Given the description of an element on the screen output the (x, y) to click on. 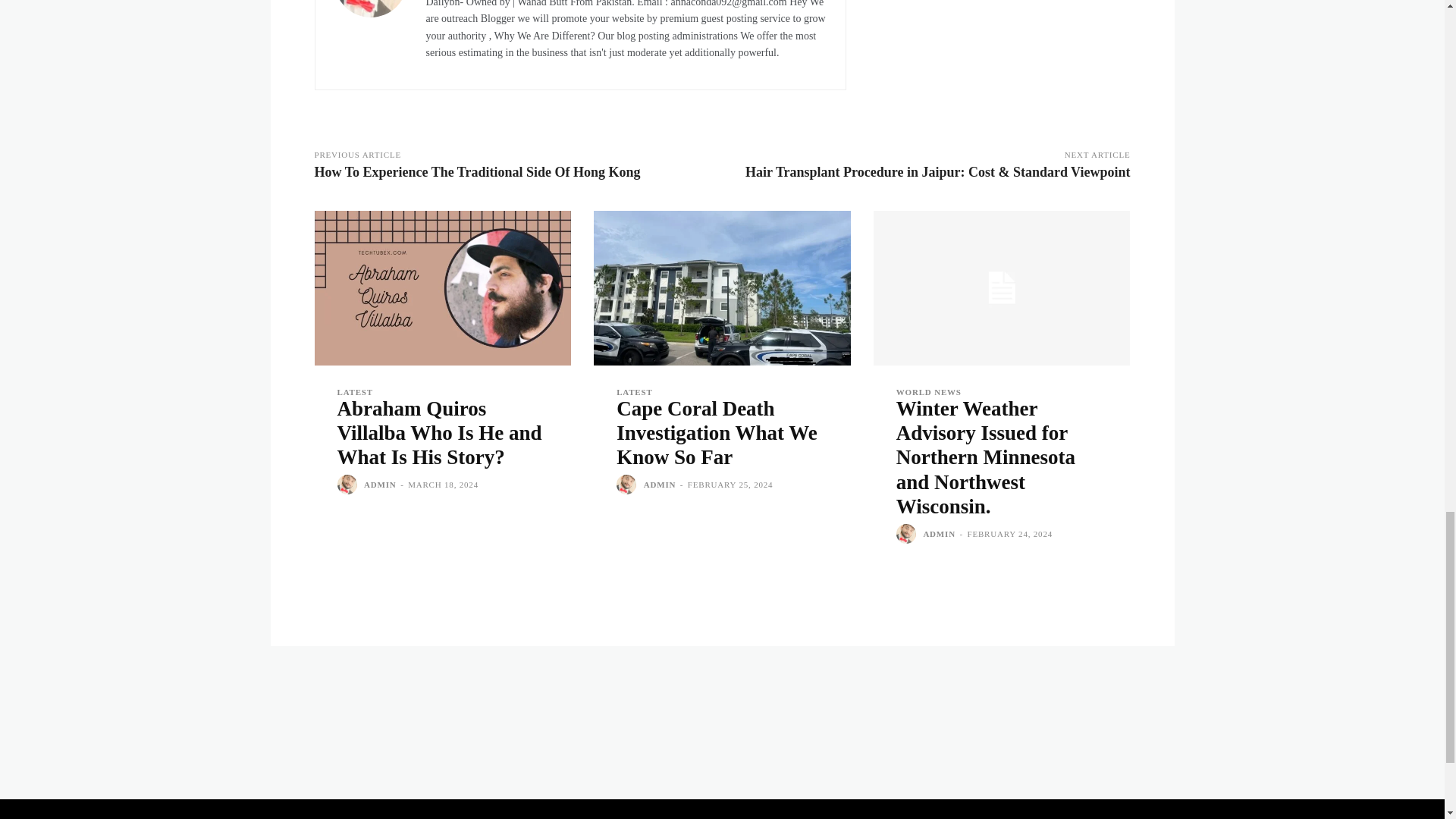
Admin (369, 33)
Cape Coral Death Investigation What We Know So Far (715, 433)
Abraham Quiros Villalba Who Is He and What Is His Story? (438, 433)
Abraham Quiros Villalba Who Is He and What Is His Story? (442, 287)
Cape Coral Death Investigation What We Know So Far (722, 287)
